Given the description of an element on the screen output the (x, y) to click on. 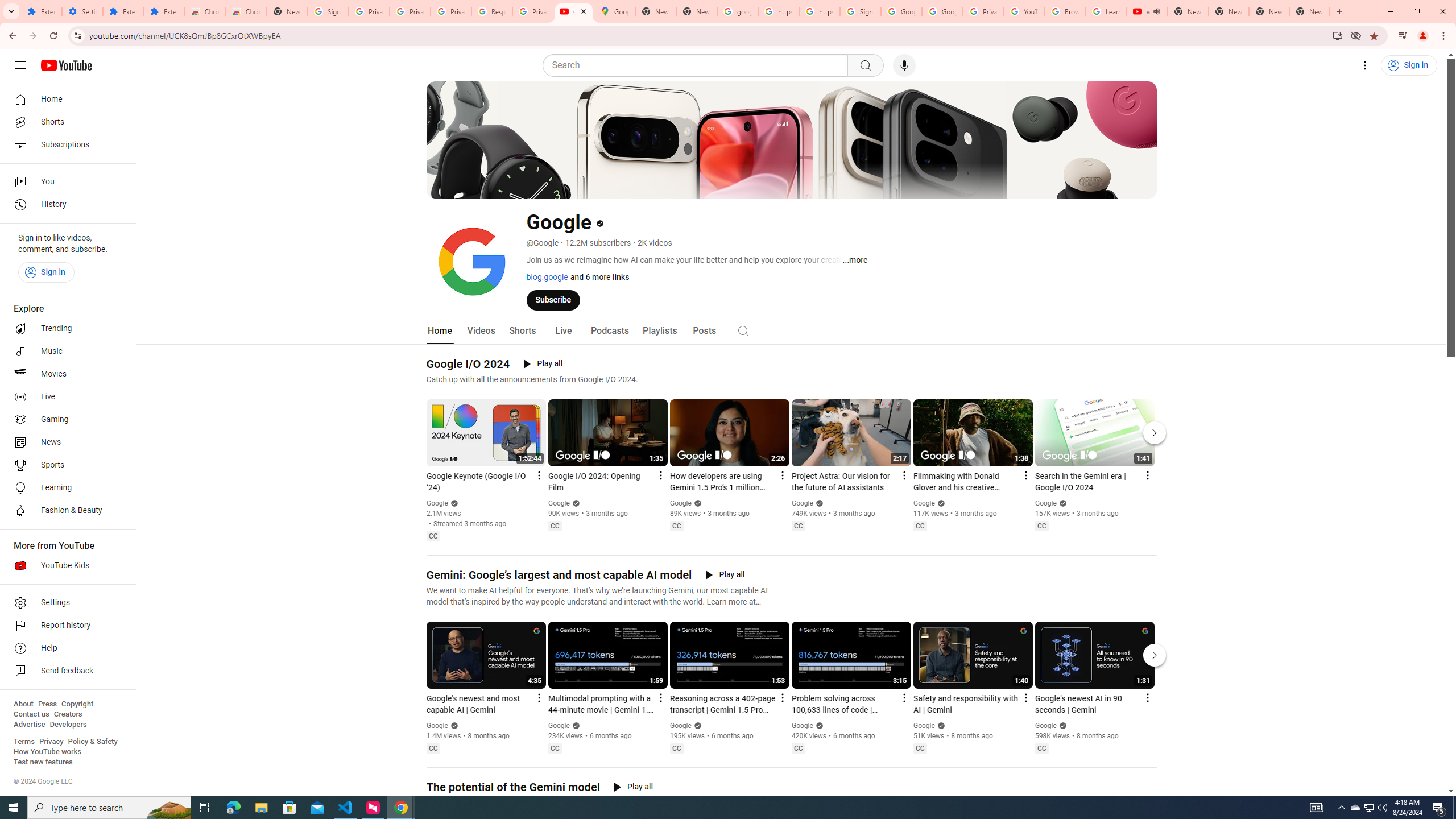
Playlists (659, 330)
The potential of the Gemini model (512, 786)
Press (46, 703)
YouTube Kids (64, 565)
Creators (67, 714)
Chrome Web Store (205, 11)
Search with your voice (903, 65)
Extensions (41, 11)
YouTube (1023, 11)
